Given the description of an element on the screen output the (x, y) to click on. 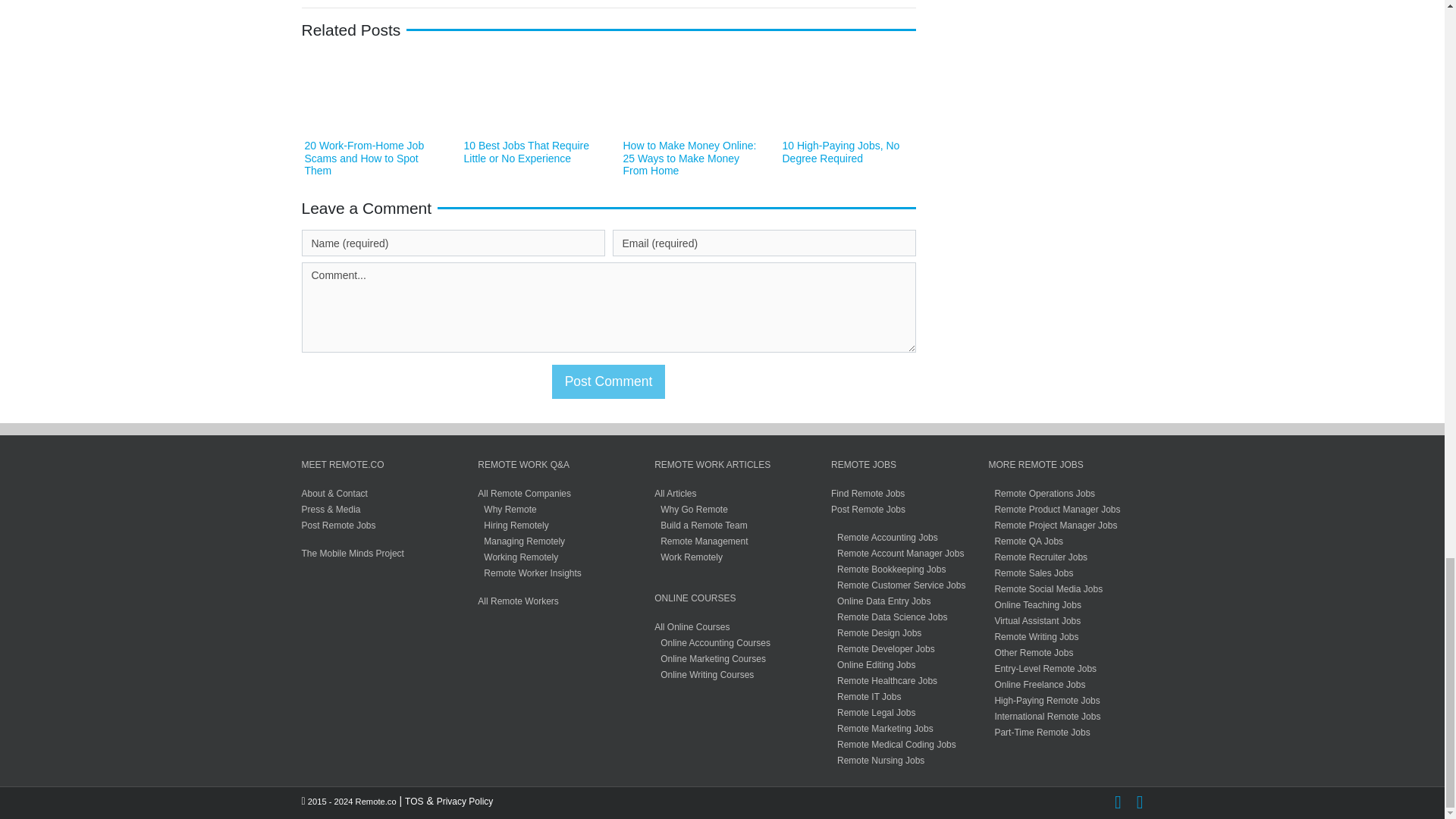
10 Best Jobs That Require Little or No Experience (526, 151)
20 Work-From-Home Job Scams and How to Spot Them (364, 158)
Post Comment (608, 381)
10 High-Paying Jobs, No Degree Required (841, 151)
Post Comment (608, 381)
How to Make Money Online: 25 Ways to Make Money From Home (690, 158)
